Given the description of an element on the screen output the (x, y) to click on. 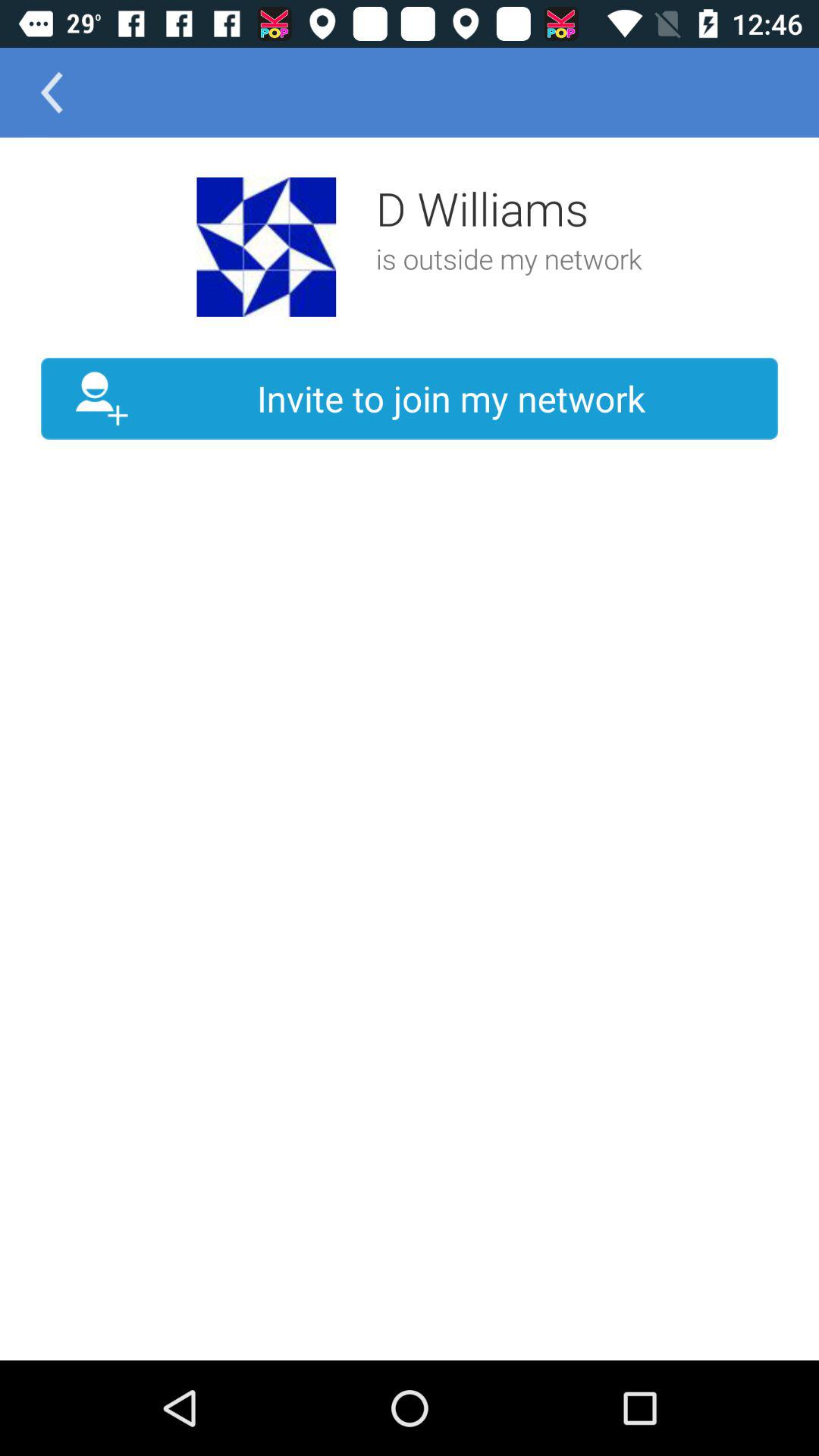
turn off the invite to join (409, 398)
